Given the description of an element on the screen output the (x, y) to click on. 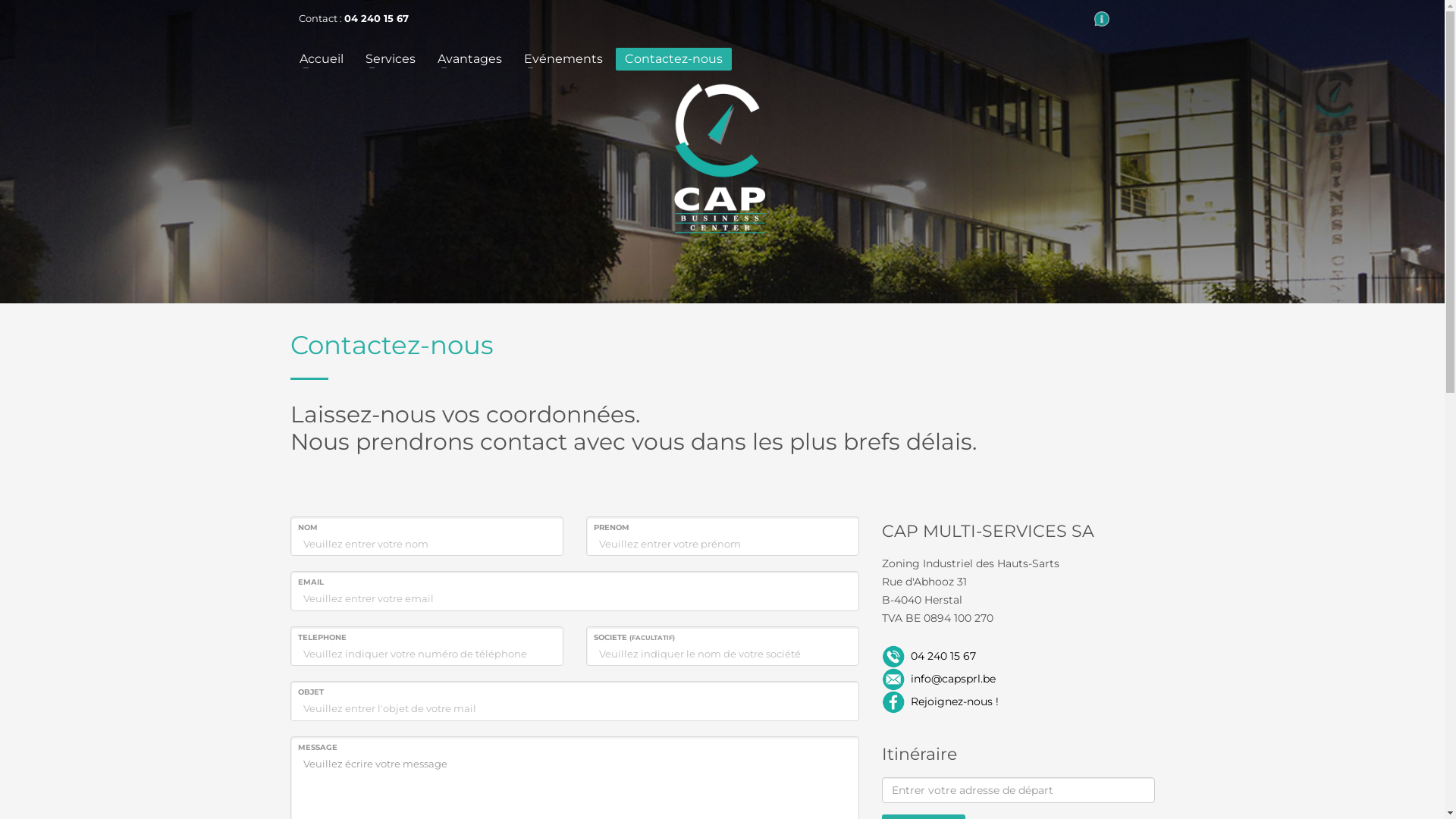
Contactez-nous Element type: text (673, 58)
info@capsprl.be Element type: text (952, 677)
04 240 15 67 Element type: text (376, 18)
Accueil Element type: text (320, 58)
04 240 15 67 Element type: text (942, 655)
Avantages Element type: text (468, 58)
Services Element type: text (390, 58)
Rejoignez-nous ! Element type: text (953, 700)
CAP Business Center Element type: hover (719, 158)
